Given the description of an element on the screen output the (x, y) to click on. 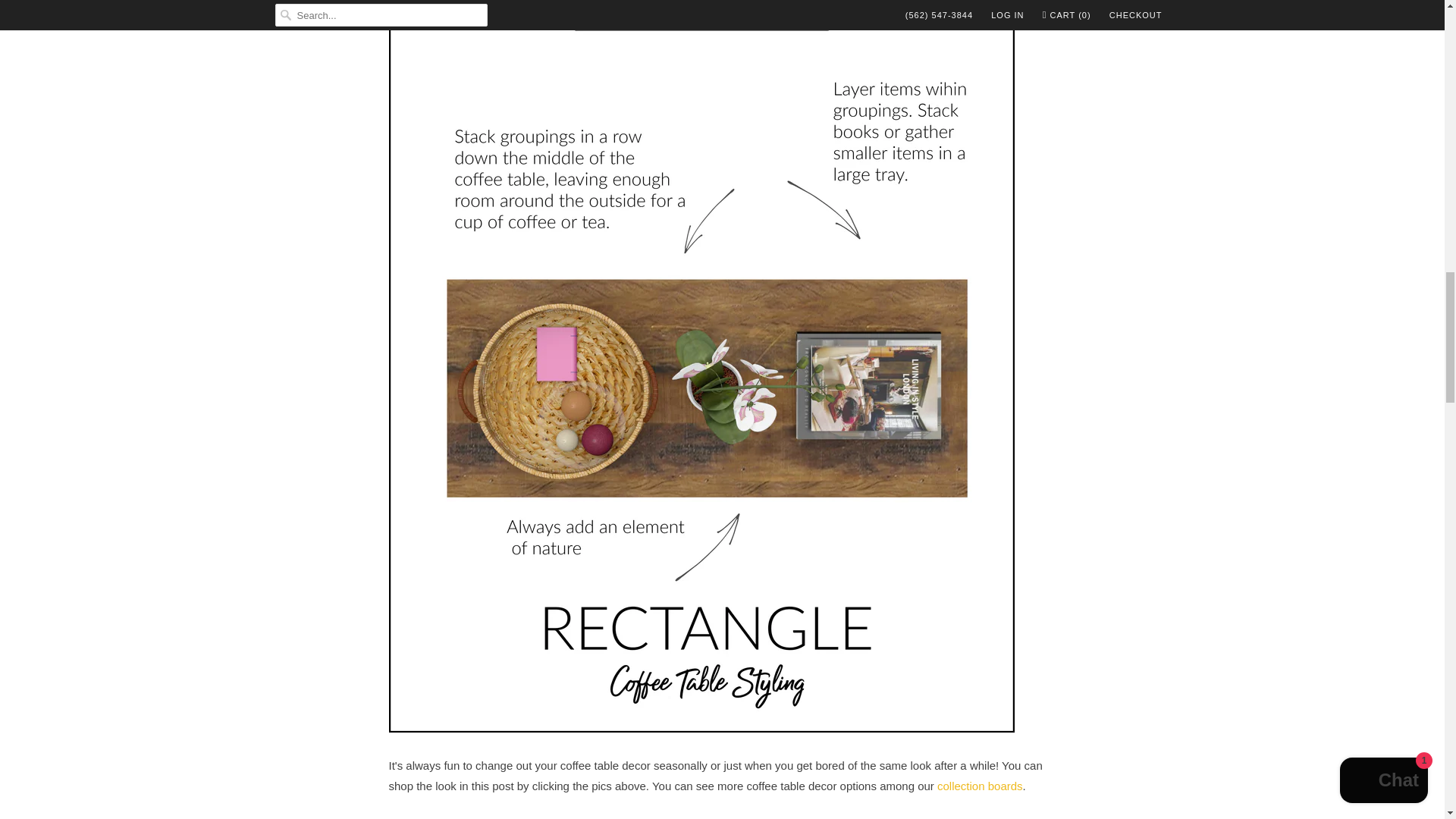
collection boards (980, 785)
coffee table decor (980, 785)
